Given the description of an element on the screen output the (x, y) to click on. 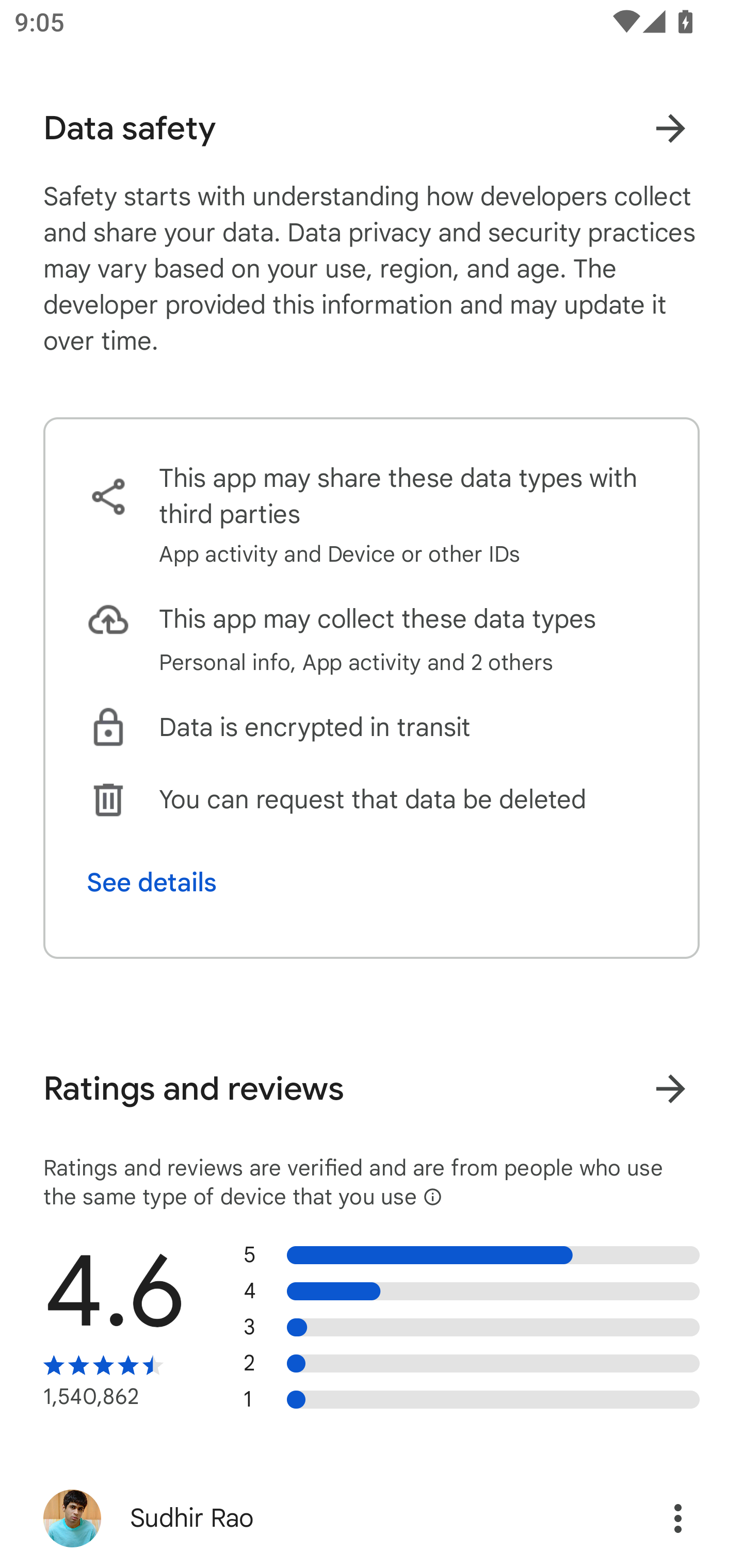
Data safety Learn more about data safety (371, 128)
Learn more about data safety (670, 128)
See details (151, 883)
Ratings and reviews View all ratings and reviews (371, 1088)
View all ratings and reviews (670, 1088)
Options (655, 1518)
